Given the description of an element on the screen output the (x, y) to click on. 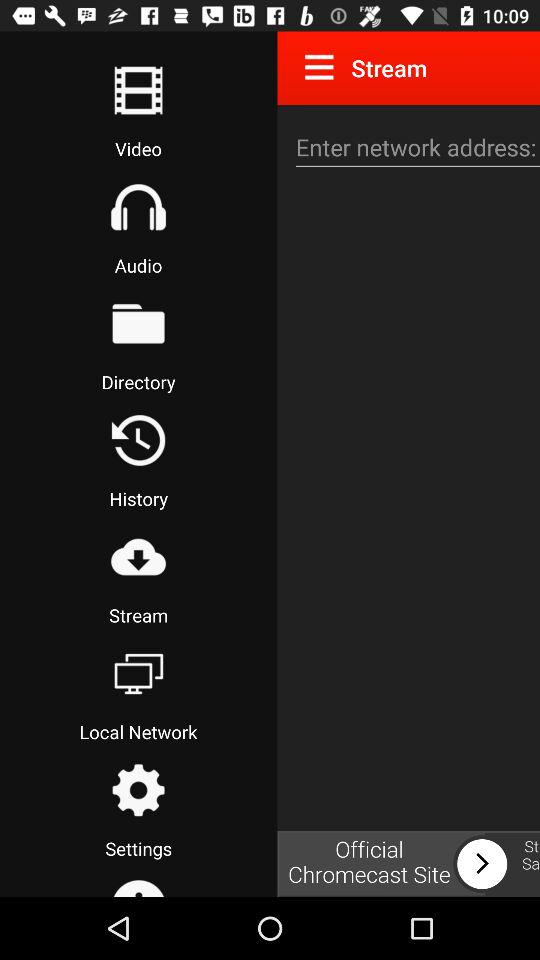
choose this (138, 673)
